Given the description of an element on the screen output the (x, y) to click on. 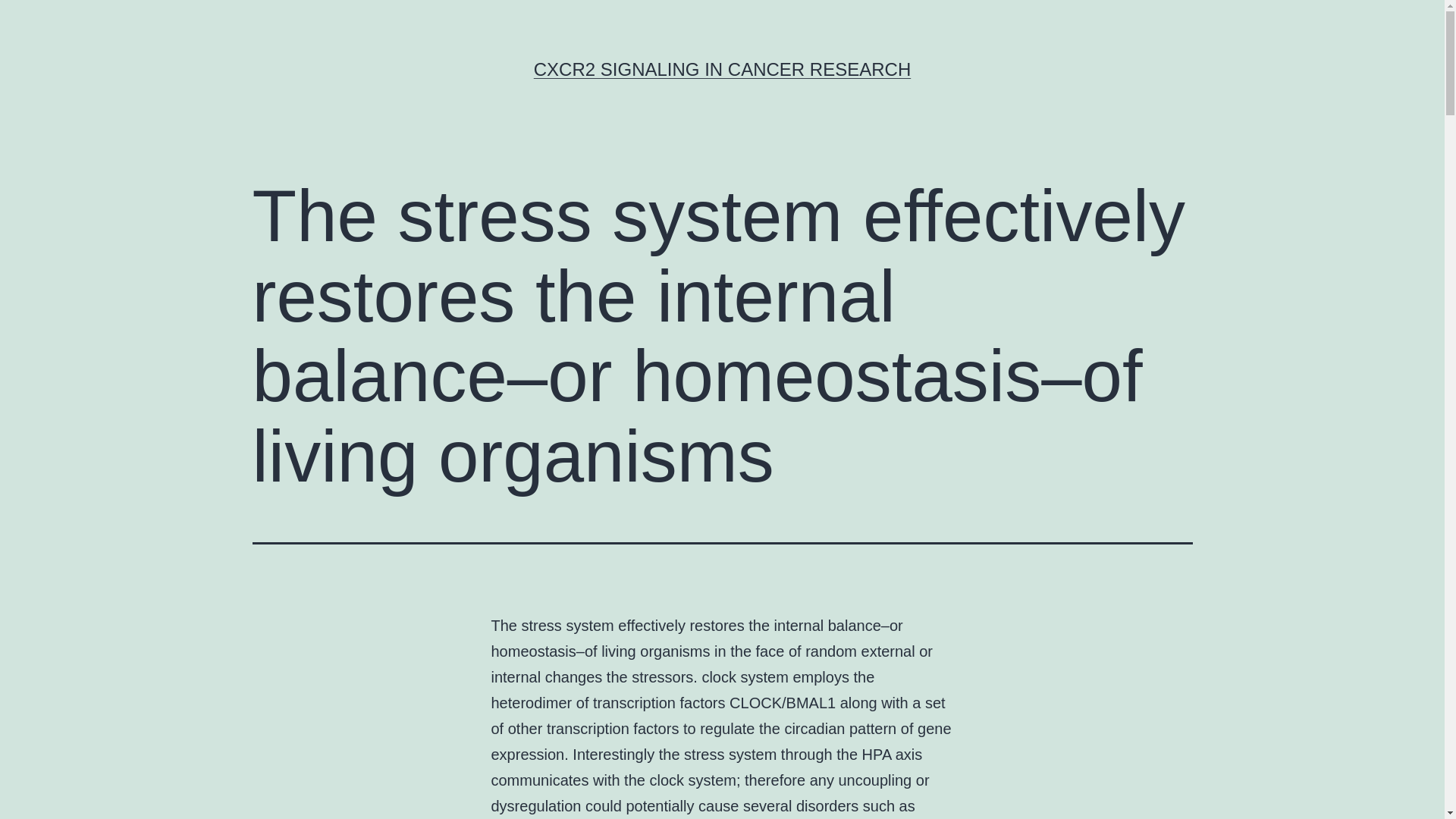
CXCR2 SIGNALING IN CANCER RESEARCH (722, 68)
